Given the description of an element on the screen output the (x, y) to click on. 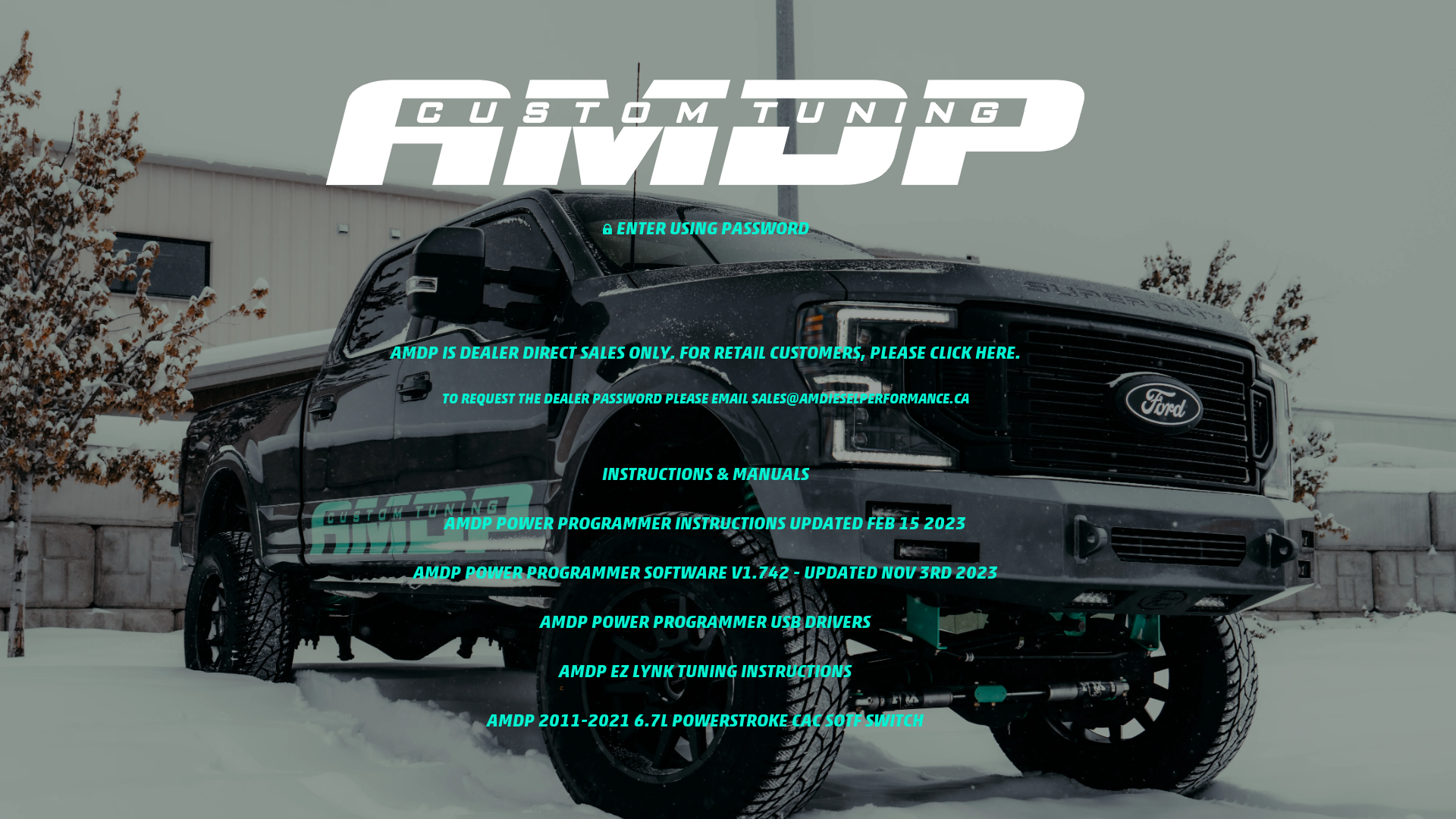
HERE. Element type: text (997, 350)
LOCK ICON ENTER USING PASSWORD Element type: text (705, 225)
AMDP POWER PROGRAMMER USB DRIVERS Element type: text (704, 619)
AMDP POWER PROGRAMMER INSTRUCTIONS UPDATED FEB 15 2023 Element type: text (705, 521)
AMDP 2011-2021 6.7L POWERSTROKE CAC SOTF SWITCH Element type: text (704, 718)
AMDP EZ LYNK TUNING INSTRUCTIONS Element type: text (704, 669)
AMDP POWER PROGRAMMER SOFTWARE V1.742 - UPDATED NOV 3RD 2023 Element type: text (704, 570)
